Given the description of an element on the screen output the (x, y) to click on. 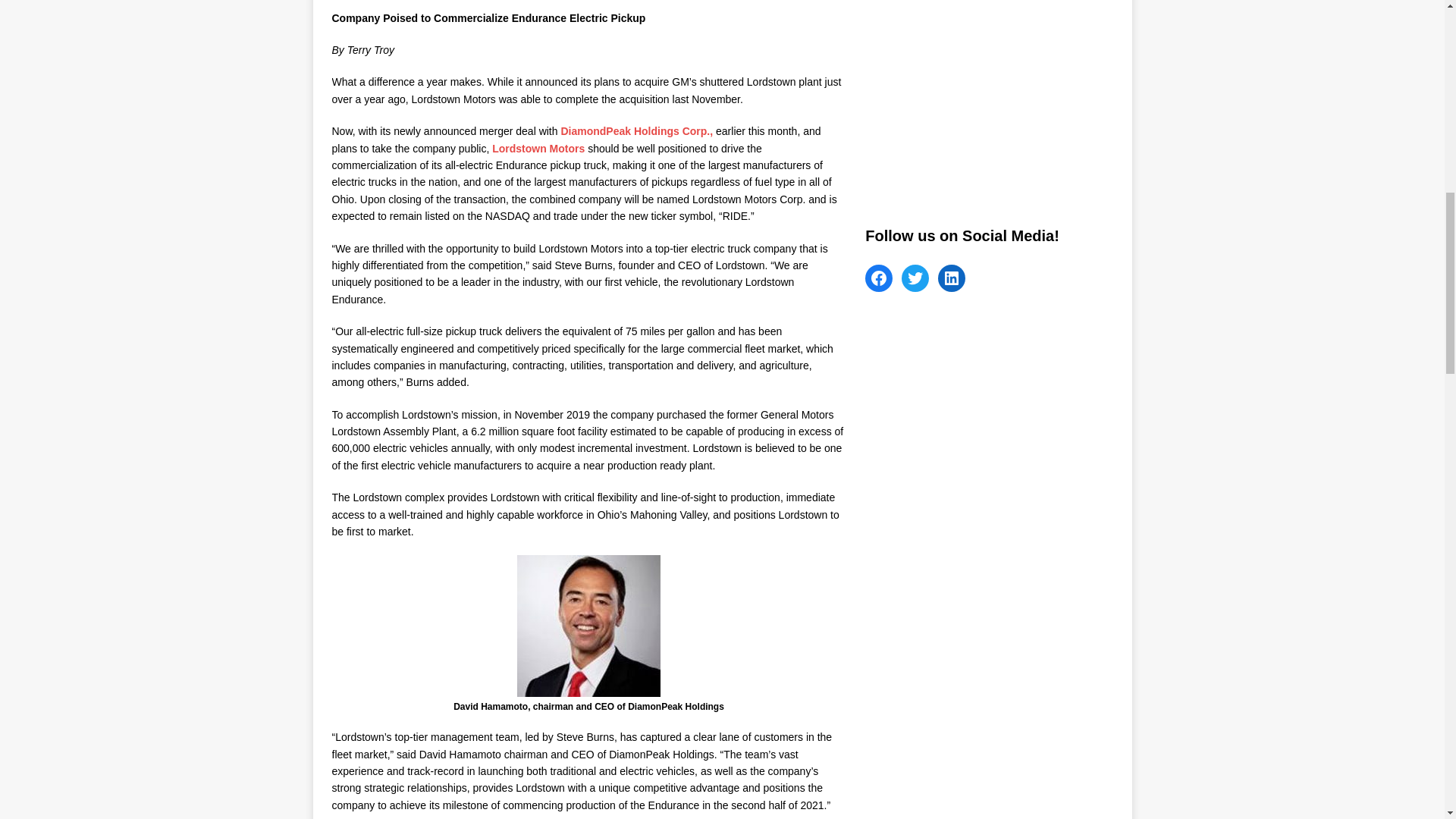
Lordstown Motors (538, 148)
DiamondPeak Holdings Corp., (636, 131)
View the Current Issue Online (978, 103)
